Given the description of an element on the screen output the (x, y) to click on. 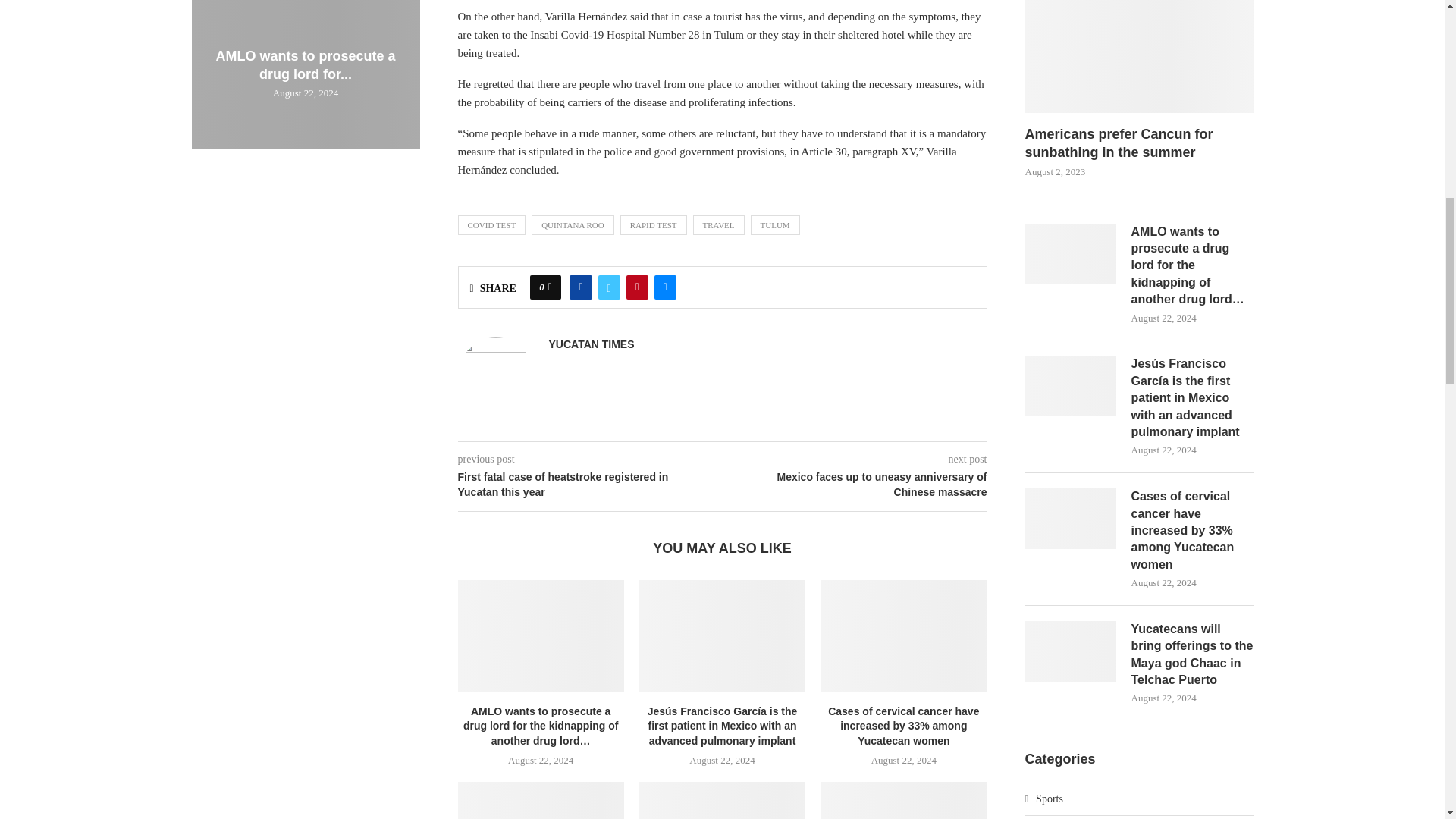
Author Yucatan Times (591, 344)
